Given the description of an element on the screen output the (x, y) to click on. 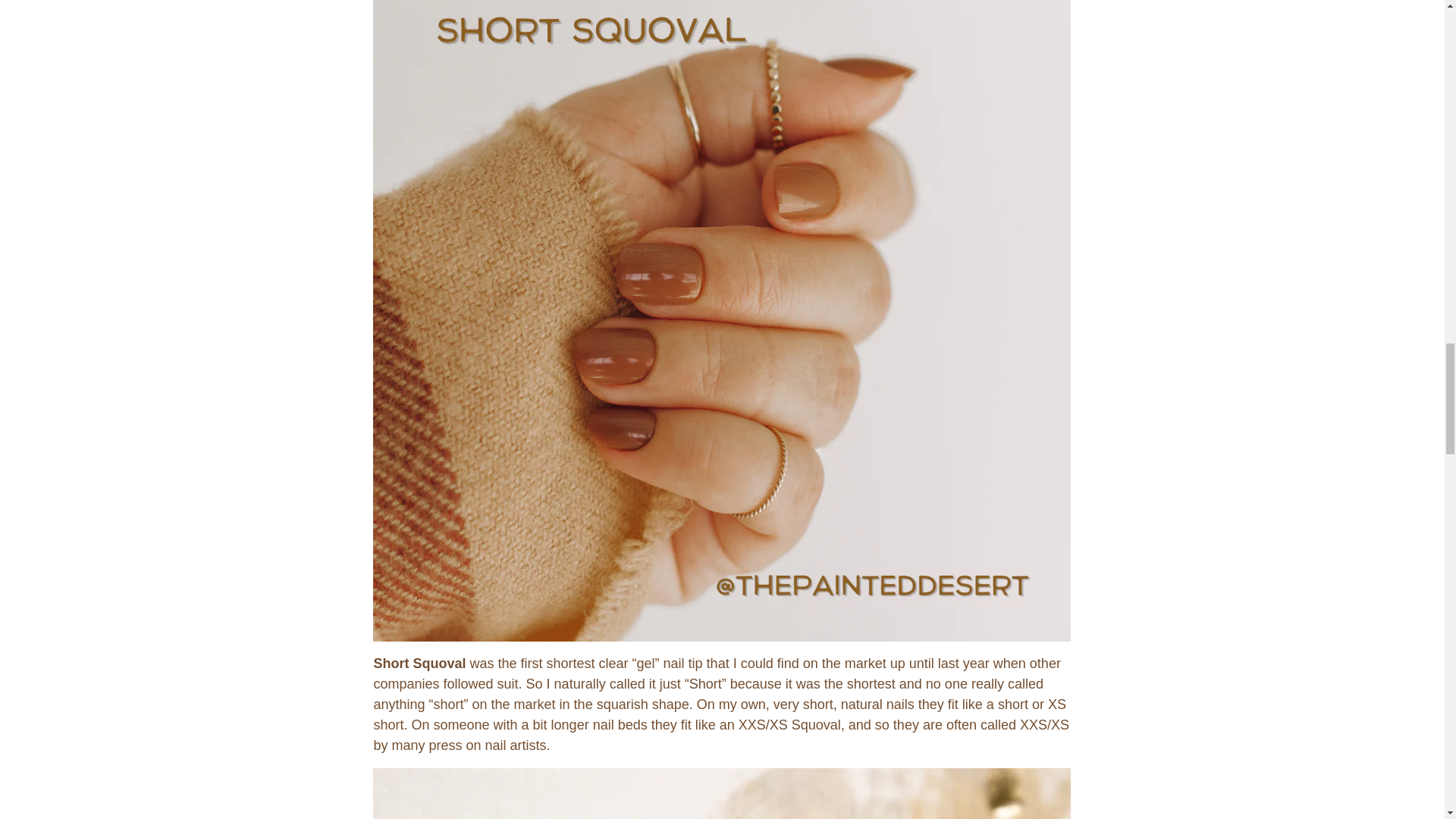
short squoval gel nail extension tips full cover nails (721, 291)
